Given the description of an element on the screen output the (x, y) to click on. 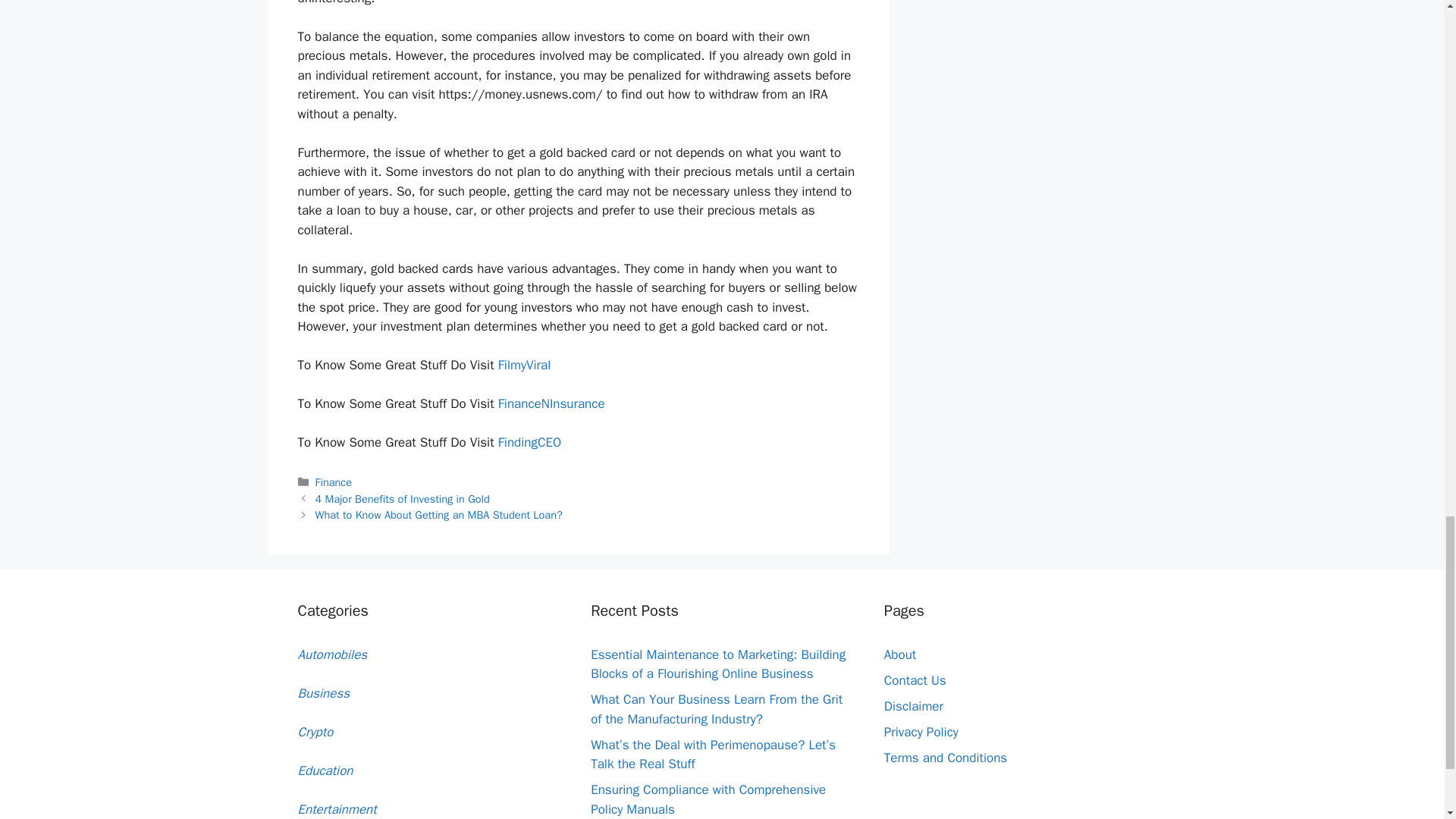
FinanceNInsurance (551, 403)
FilmyViral (524, 365)
Finance (333, 481)
What to Know About Getting an MBA Student Loan? (438, 514)
4 Major Benefits of Investing in Gold (402, 499)
FindingCEO (529, 442)
